Given the description of an element on the screen output the (x, y) to click on. 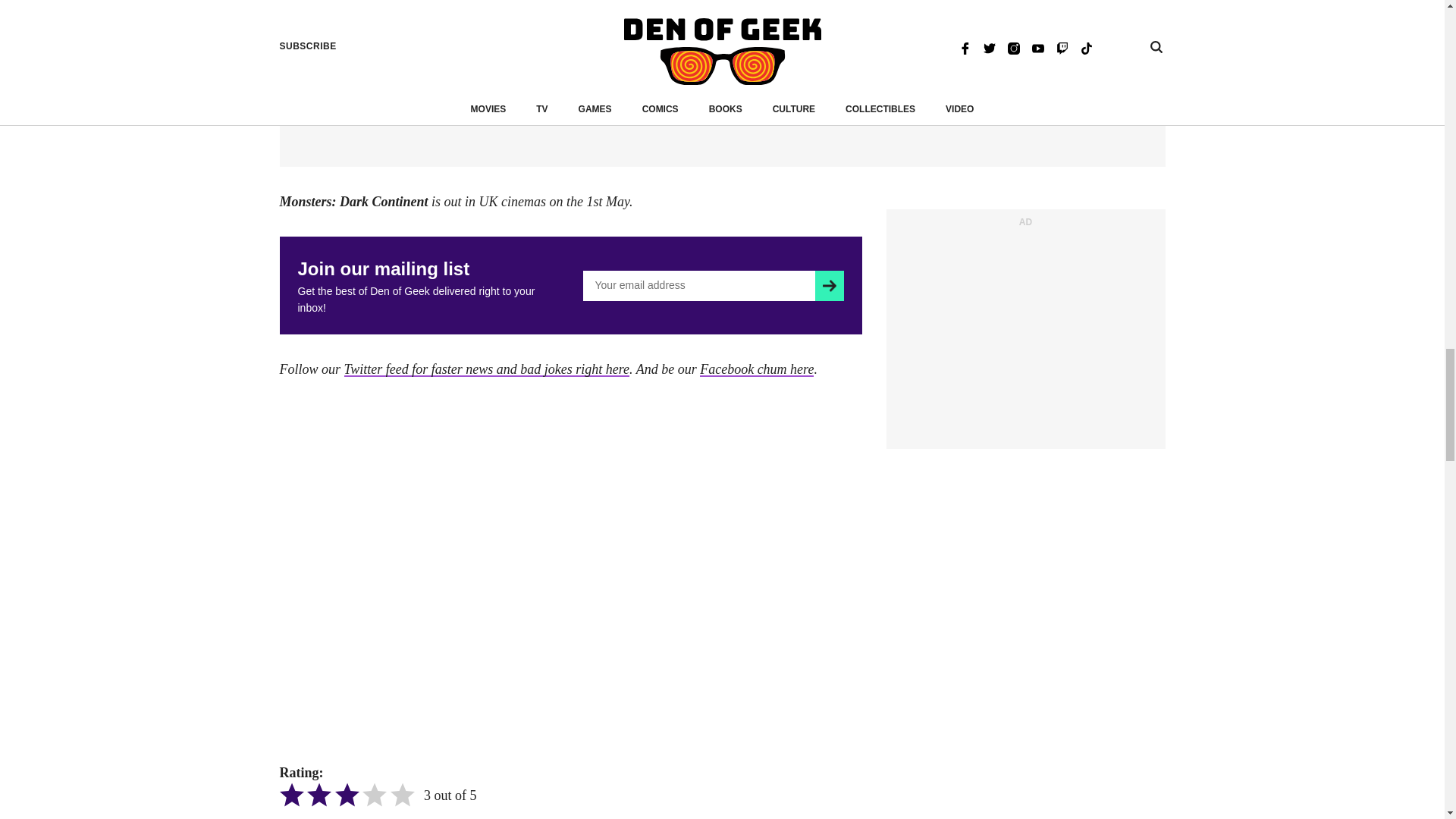
Twitter feed for faster news and bad jokes right here (485, 368)
Subscribe (829, 286)
Facebook chum here (756, 368)
